Given the description of an element on the screen output the (x, y) to click on. 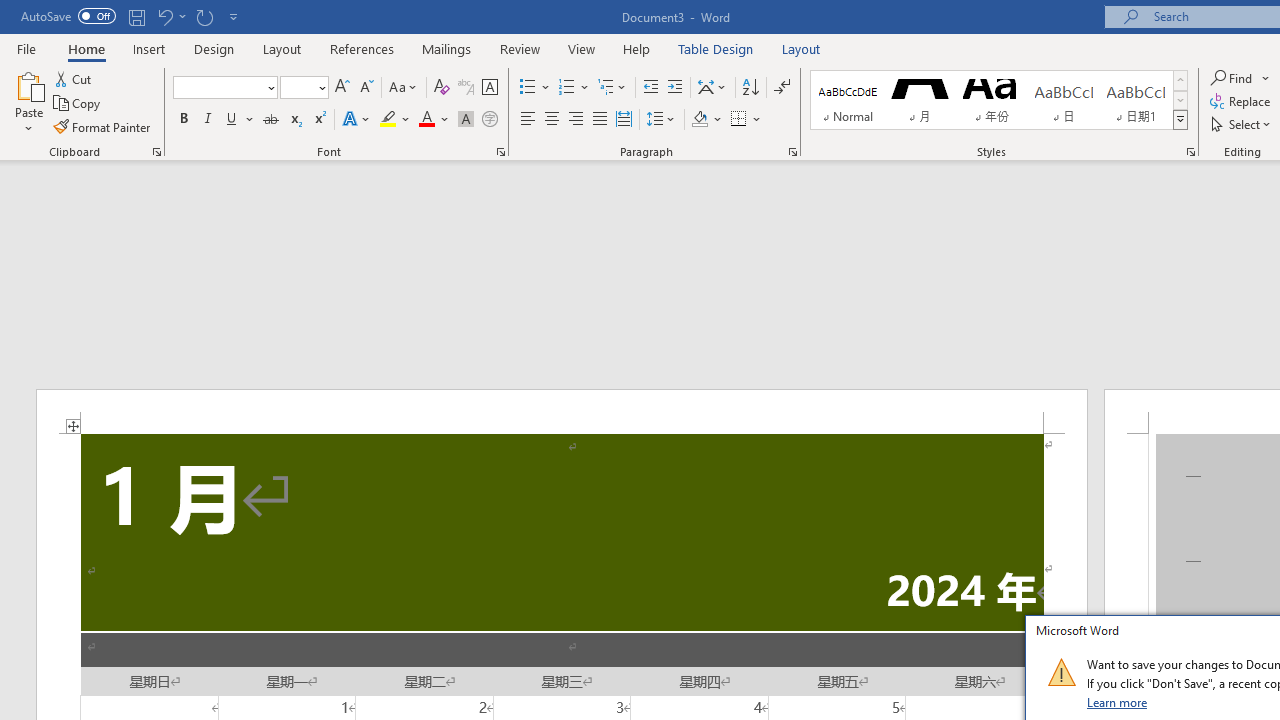
Change Case (404, 87)
Format Painter (103, 126)
Styles... (1190, 151)
Undo Apply Quick Style (164, 15)
Enclose Characters... (489, 119)
Line and Paragraph Spacing (661, 119)
Row Down (1179, 100)
Character Border (489, 87)
Styles (1179, 120)
Text Effects and Typography (357, 119)
